Given the description of an element on the screen output the (x, y) to click on. 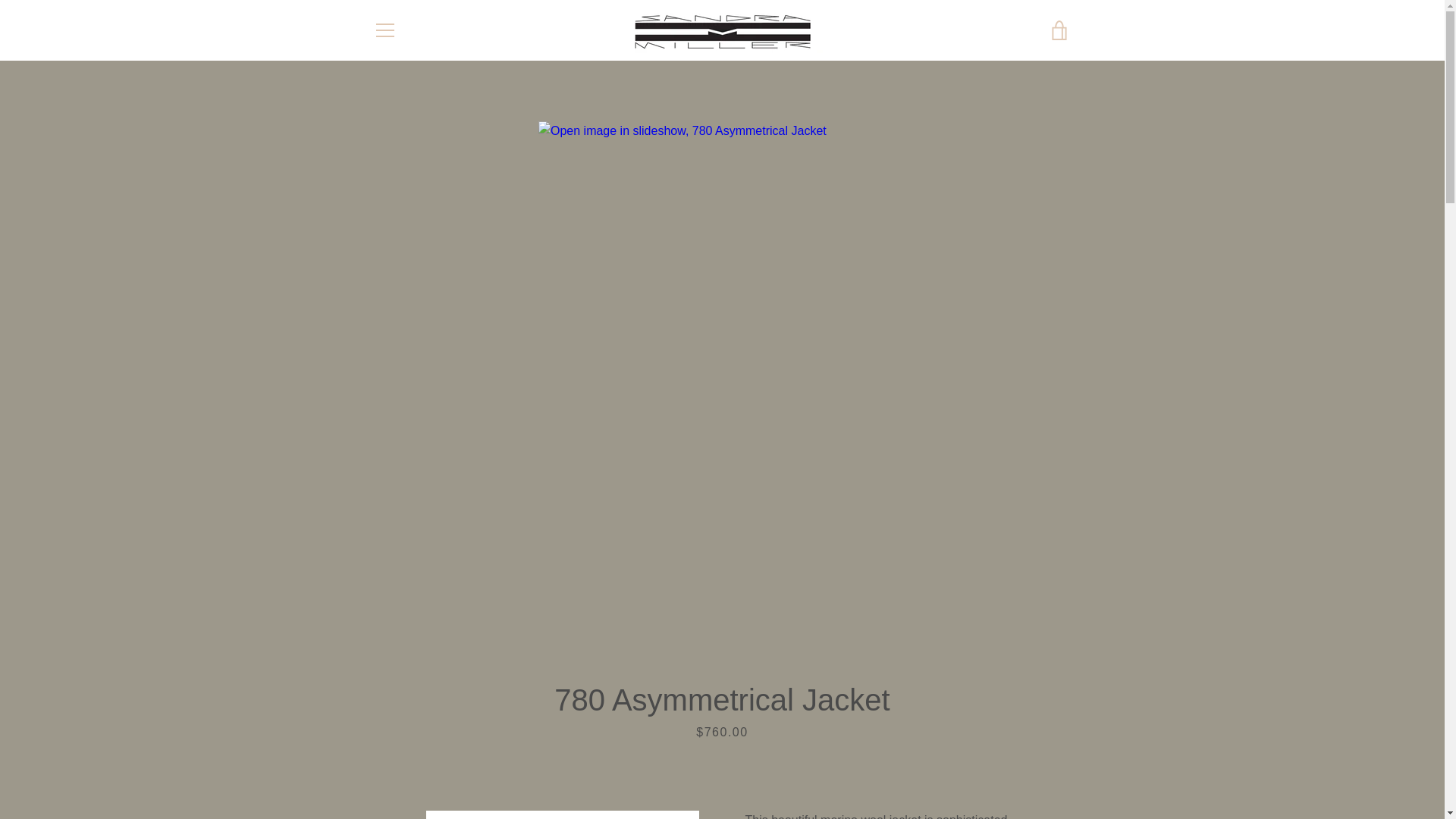
Sandra Miller on Instagram (372, 765)
CONTACT (723, 693)
Meta Pay (1022, 755)
Visa (1057, 778)
Mastercard (988, 778)
MENU (384, 30)
Diners Club (953, 755)
Shop Pay (1022, 778)
American Express (883, 755)
CUSTOM ORDERS (595, 693)
Instagram (372, 765)
VIEW CART (1059, 30)
Discover (988, 755)
Google Pay (1057, 755)
Apple Pay (918, 755)
